Given the description of an element on the screen output the (x, y) to click on. 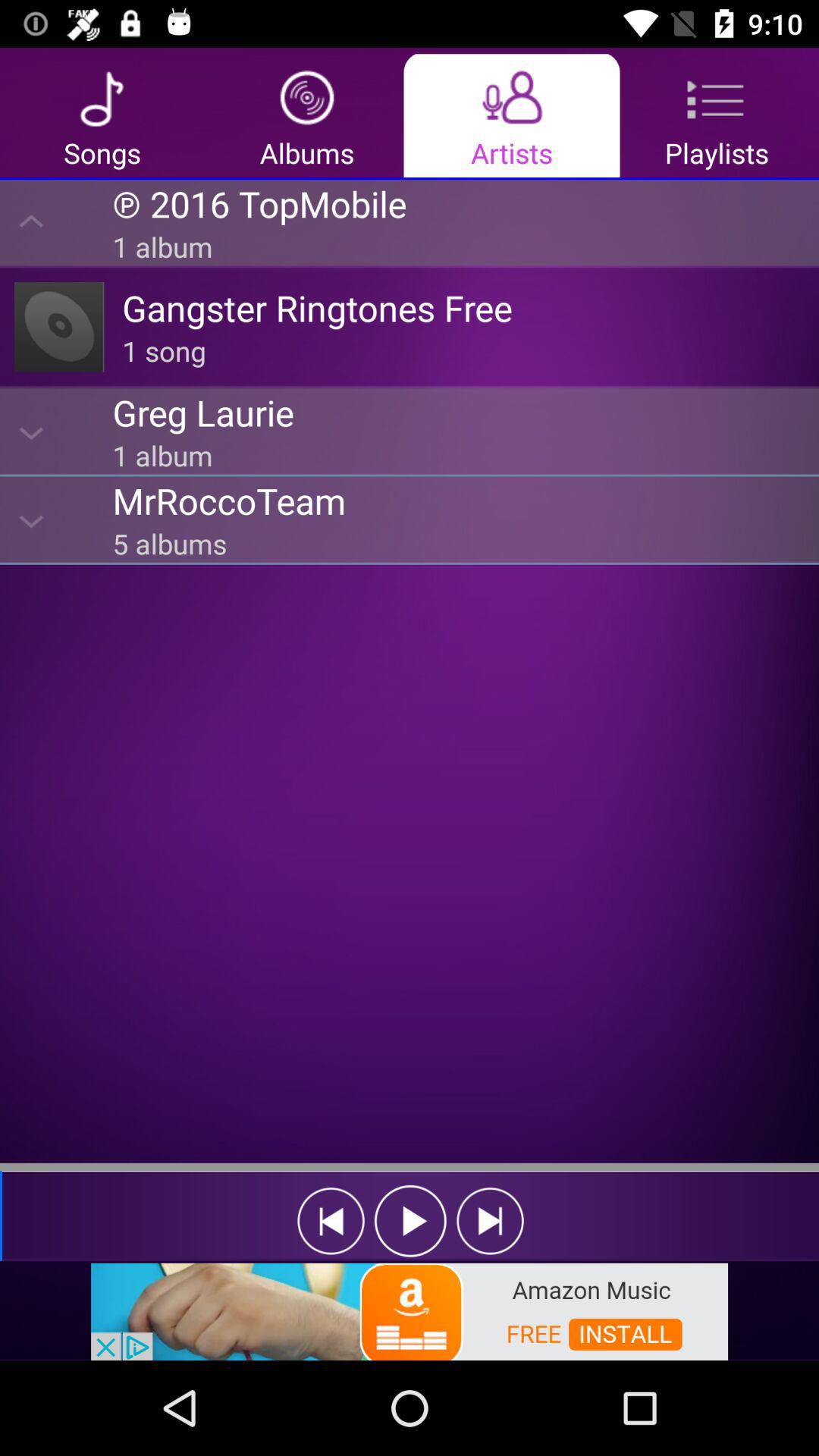
showing advertisements (409, 1310)
